Given the description of an element on the screen output the (x, y) to click on. 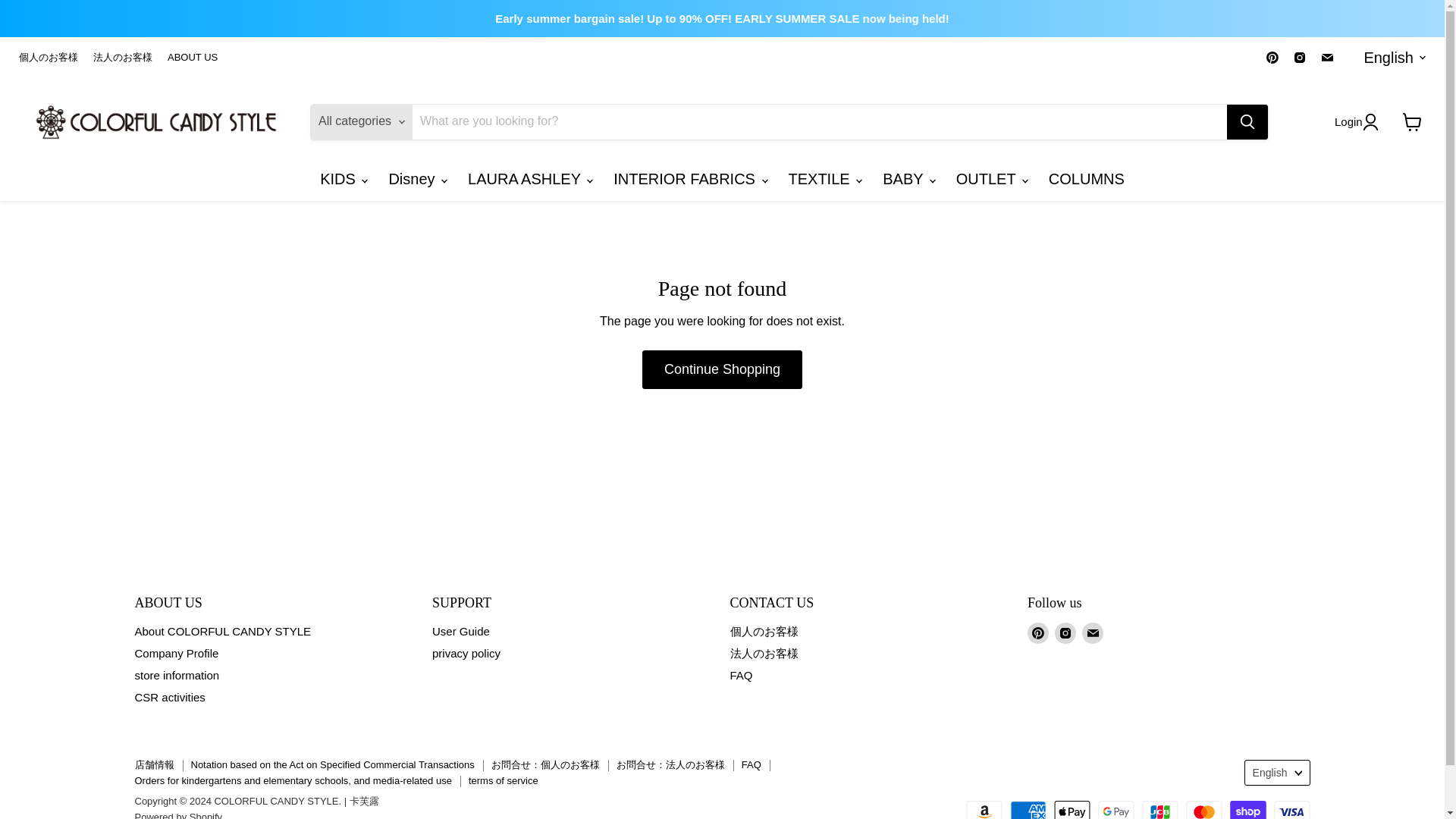
Instagram (1064, 632)
Apple Pay (1072, 809)
Login (1355, 122)
Find us on Pinterest (1272, 56)
Find us on Instagram (1299, 56)
Pinterest (1037, 632)
Email (1327, 56)
Pinterest (1272, 56)
View cart (1411, 121)
Find us on Email (1327, 56)
